Given the description of an element on the screen output the (x, y) to click on. 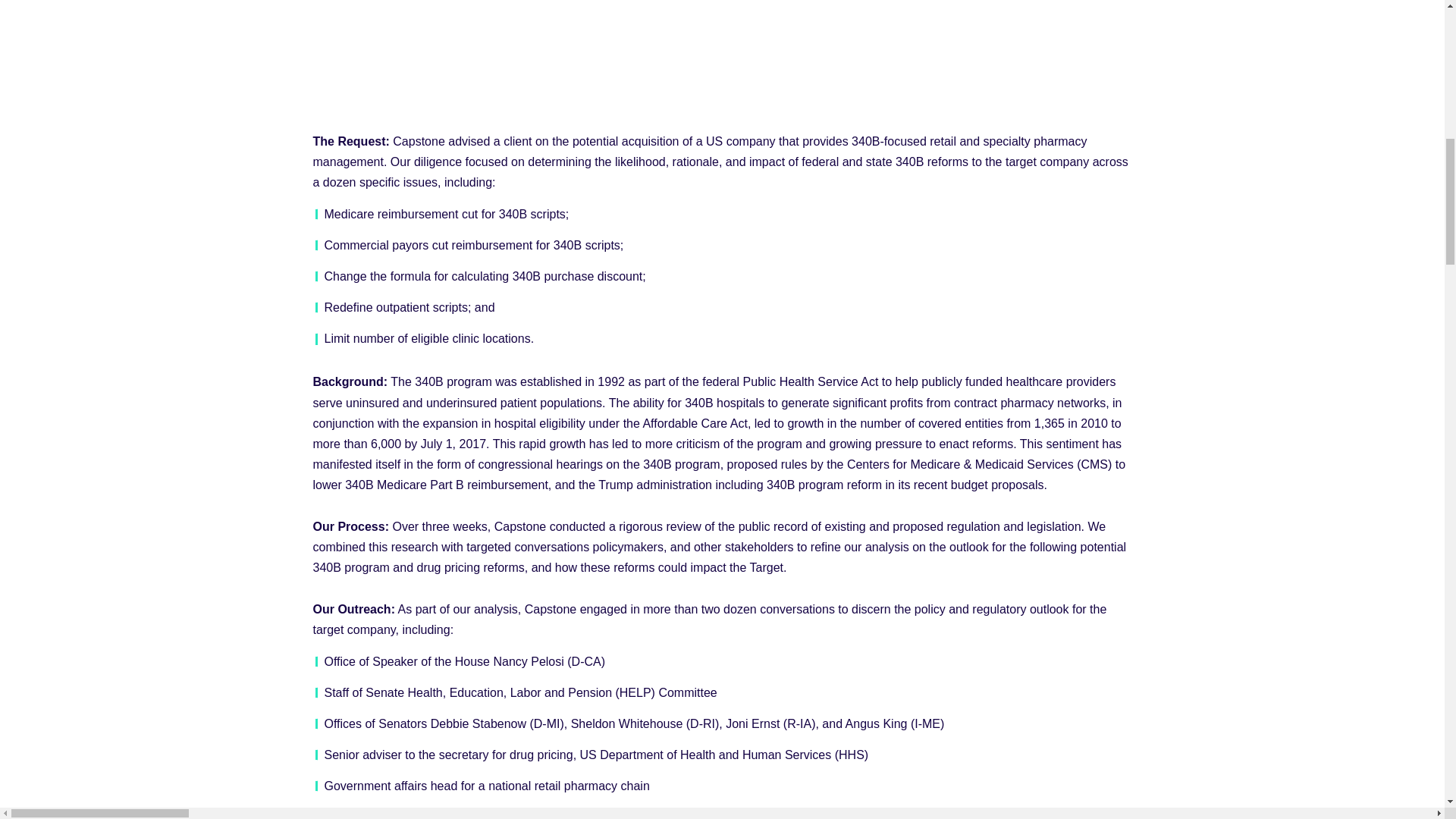
Follow on Facebook (324, 89)
Follow on X (384, 89)
Follow on LinkedIn (354, 89)
